Given the description of an element on the screen output the (x, y) to click on. 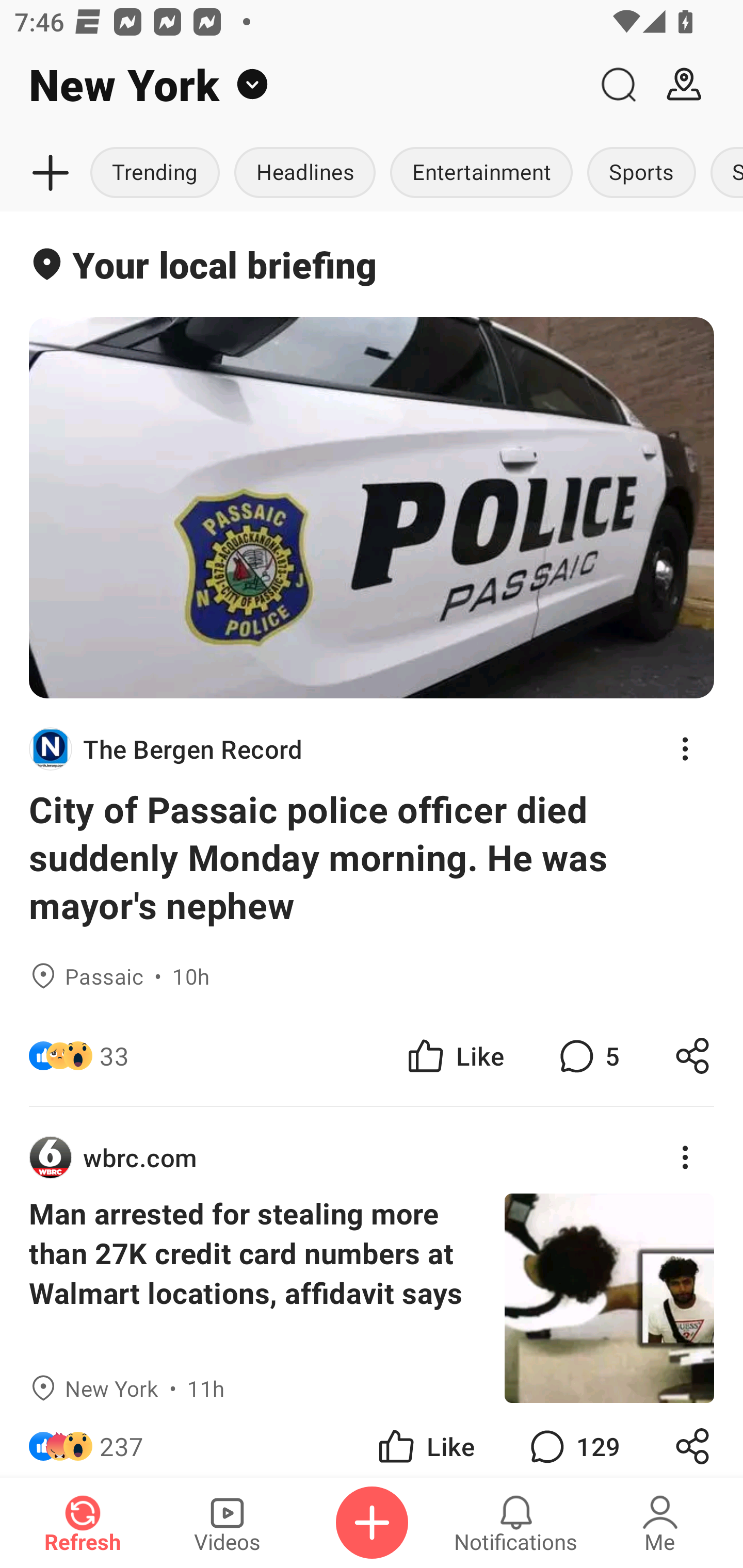
New York (292, 84)
Trending (156, 172)
Headlines (304, 172)
Entertainment (481, 172)
Sports (641, 172)
33 (114, 1055)
Like (454, 1055)
5 (587, 1055)
237 (121, 1440)
Like (425, 1440)
129 (572, 1440)
Videos (227, 1522)
Notifications (516, 1522)
Me (659, 1522)
